Given the description of an element on the screen output the (x, y) to click on. 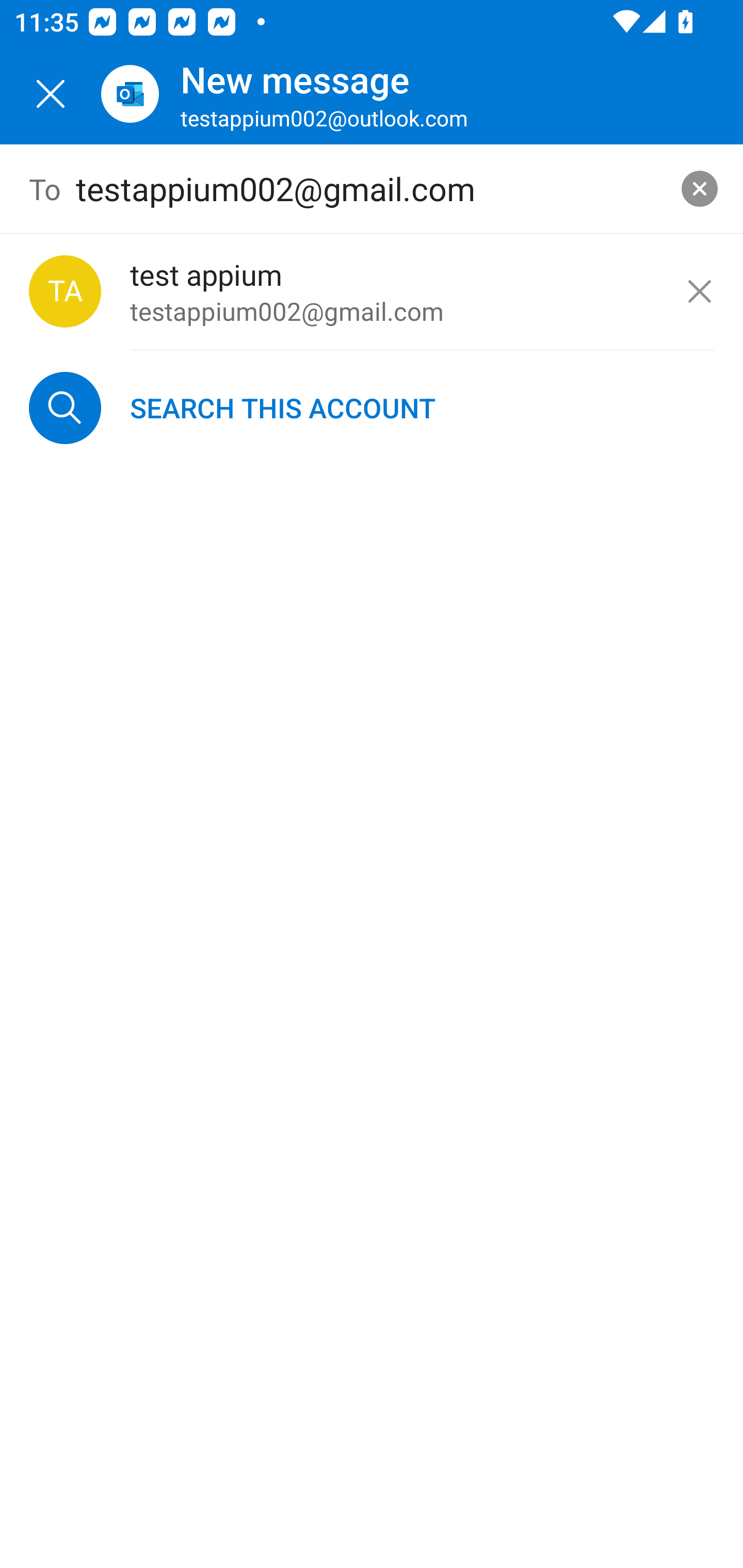
Close (50, 93)
testappium002@gmail.com (371, 188)
clear search (699, 188)
